Given the description of an element on the screen output the (x, y) to click on. 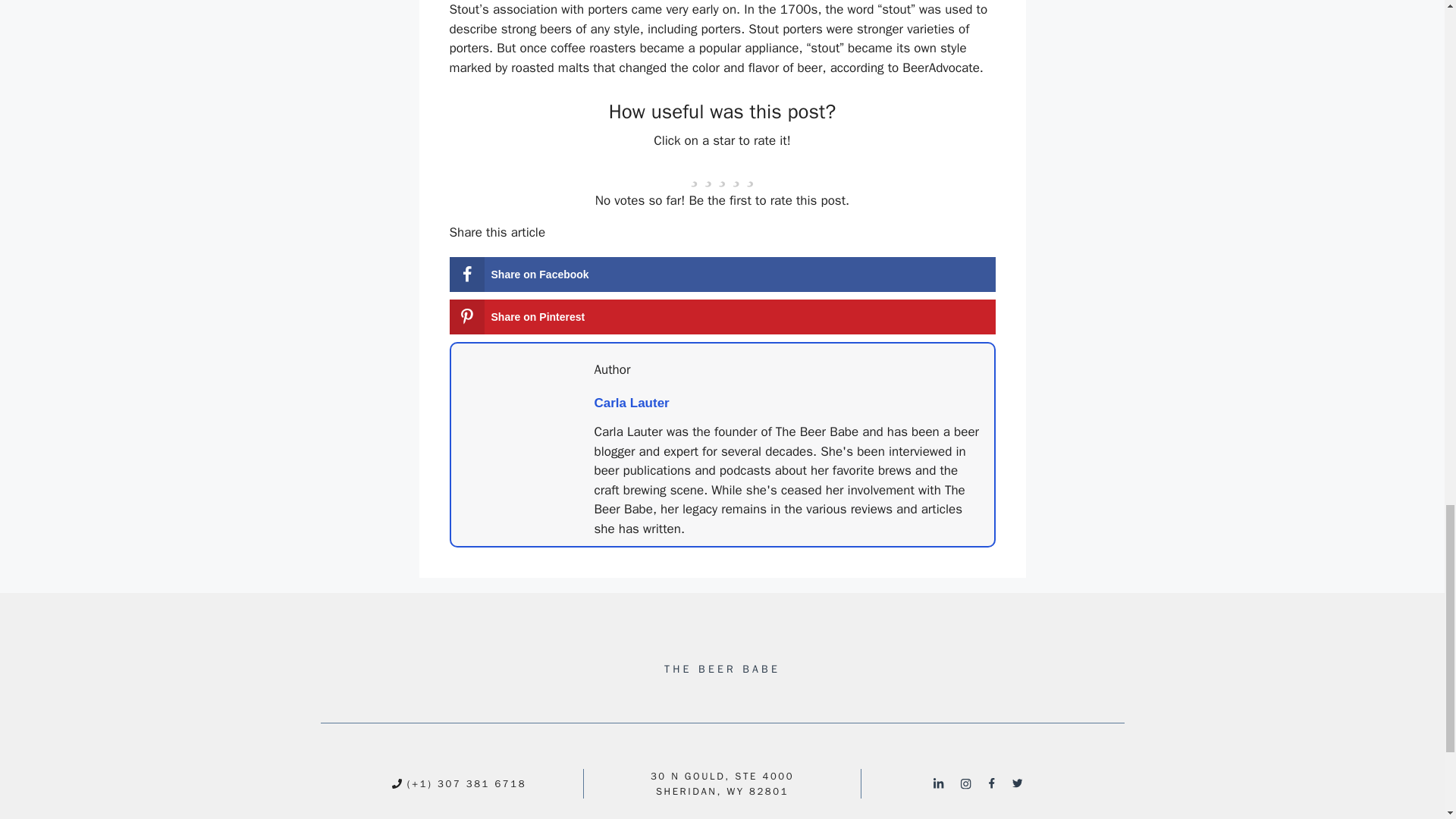
Share on Facebook (721, 274)
Carla Lauter (631, 402)
Share on Facebook (721, 274)
Save to Pinterest (721, 316)
Share on Pinterest (721, 316)
